Given the description of an element on the screen output the (x, y) to click on. 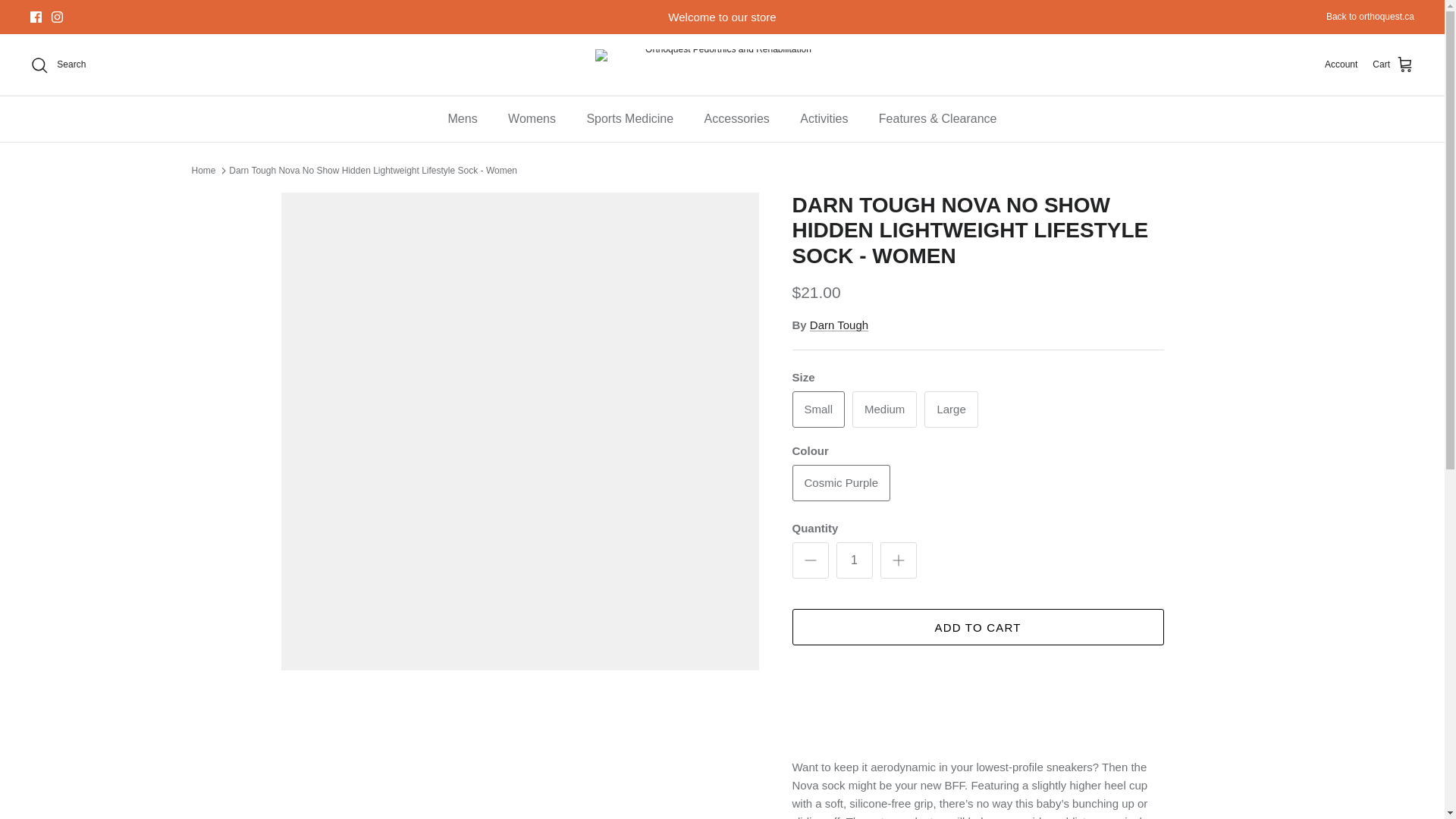
Instagram (56, 16)
Cart (1393, 65)
Plus (897, 560)
Instagram (56, 16)
Minus (809, 560)
Account (1340, 64)
Orthoquest Pedorthics and Rehabilitation (721, 64)
Search (57, 65)
1 (853, 560)
Facebook (36, 16)
